Given the description of an element on the screen output the (x, y) to click on. 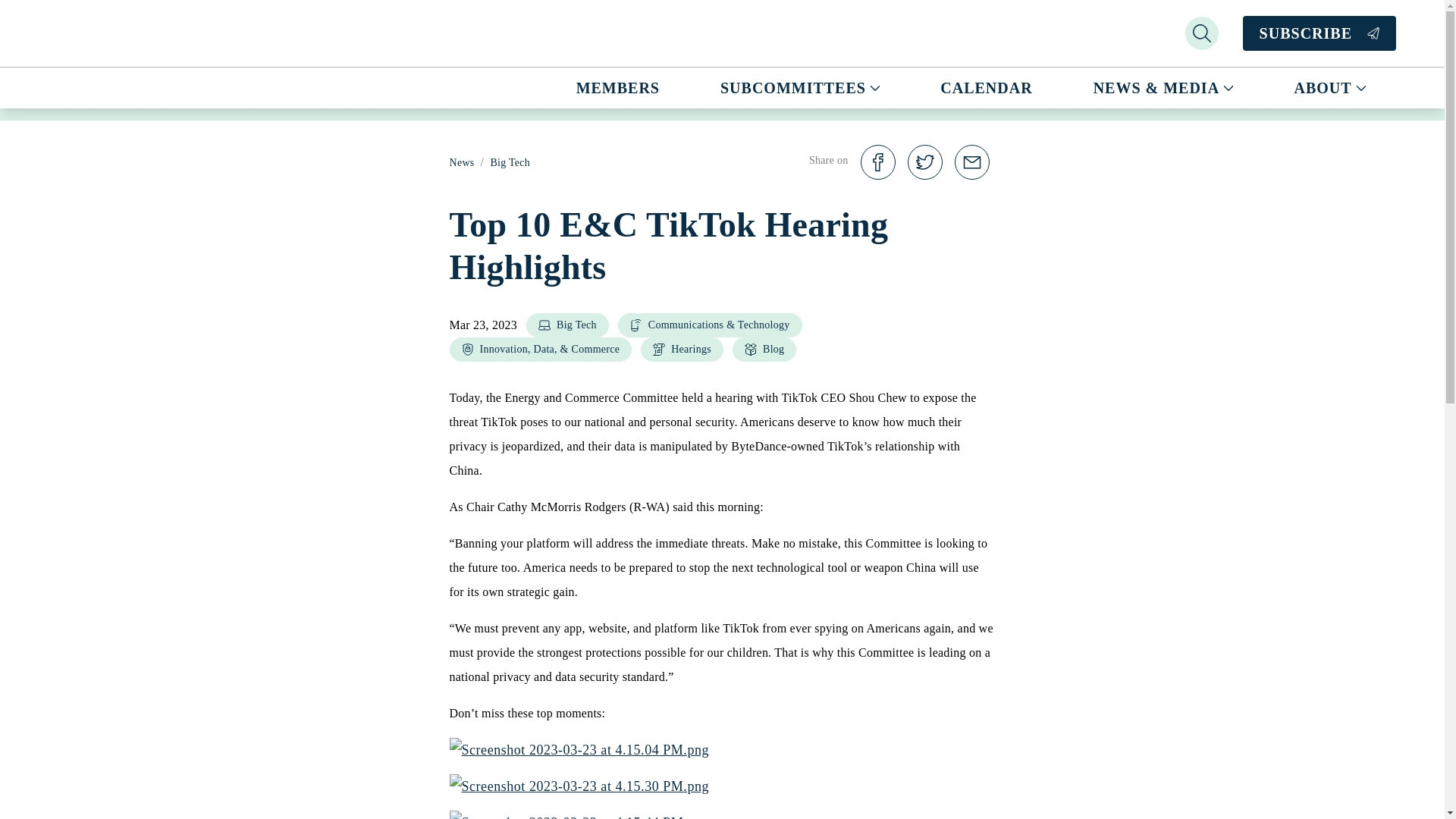
News (461, 161)
CALENDAR (986, 87)
SUBSCRIBE (1319, 32)
MEMBERS (618, 87)
SUBCOMMITTEES (800, 87)
Hearings (681, 349)
ABOUT (1329, 87)
Big Tech (509, 161)
Big Tech (566, 324)
Blog (764, 349)
